Given the description of an element on the screen output the (x, y) to click on. 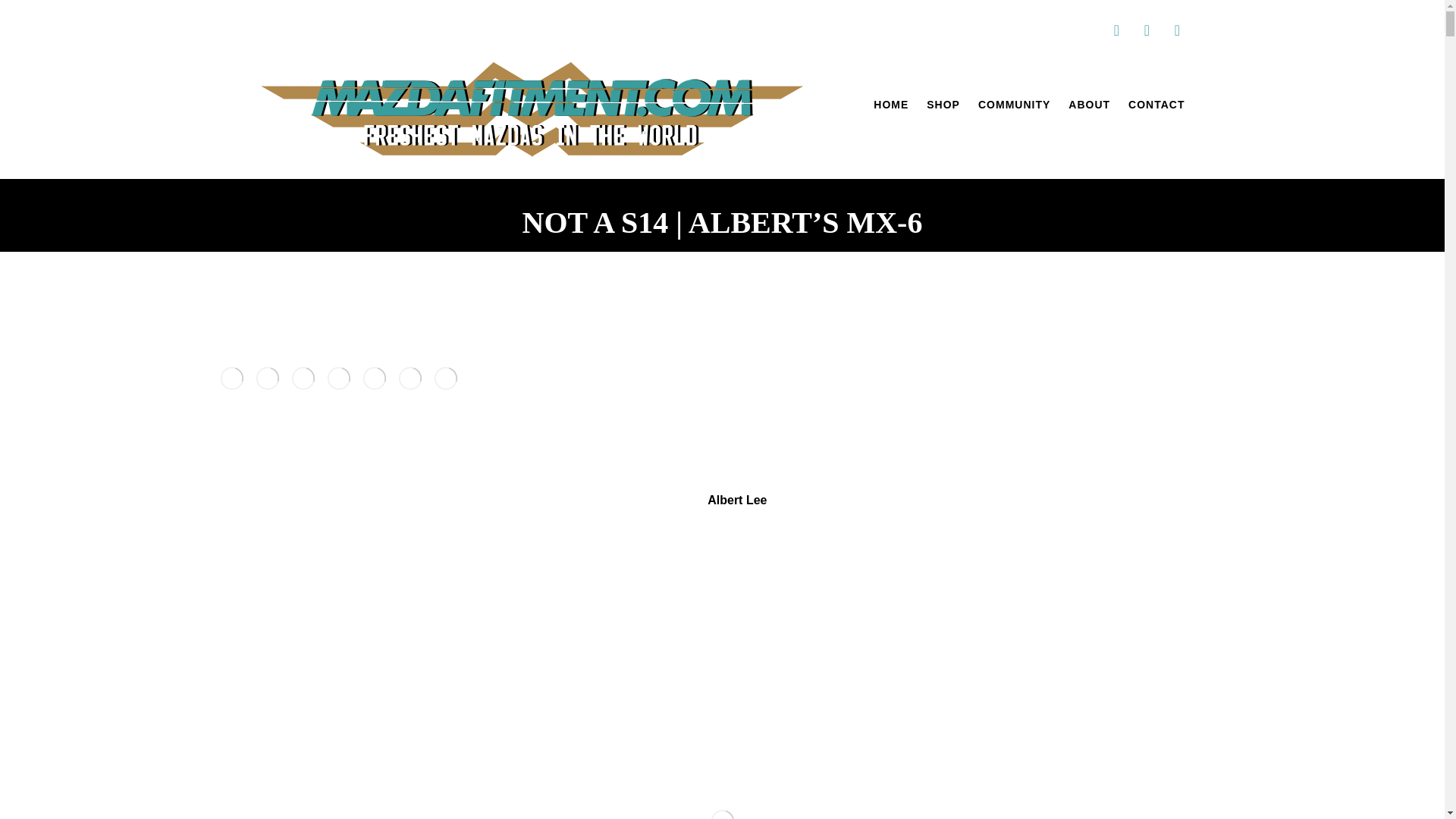
Albert Lee (737, 499)
Freshest Mazdas In The World (528, 110)
HOME (890, 105)
ABOUT (1088, 105)
CONTACT (1156, 105)
COMMUNITY (1013, 105)
SHOP (942, 105)
